Given the description of an element on the screen output the (x, y) to click on. 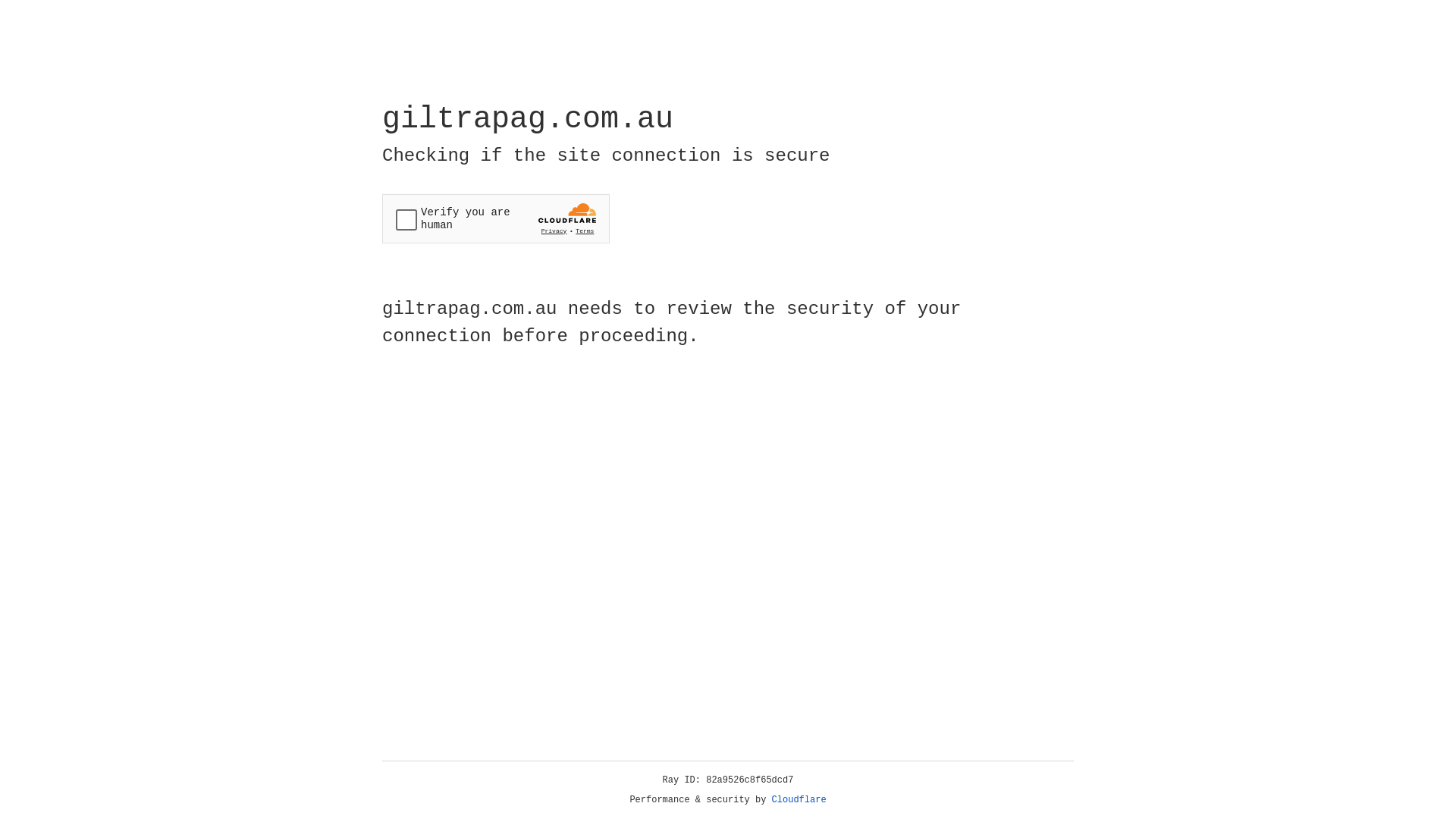
Widget containing a Cloudflare security challenge Element type: hover (495, 218)
Cloudflare Element type: text (798, 799)
